Given the description of an element on the screen output the (x, y) to click on. 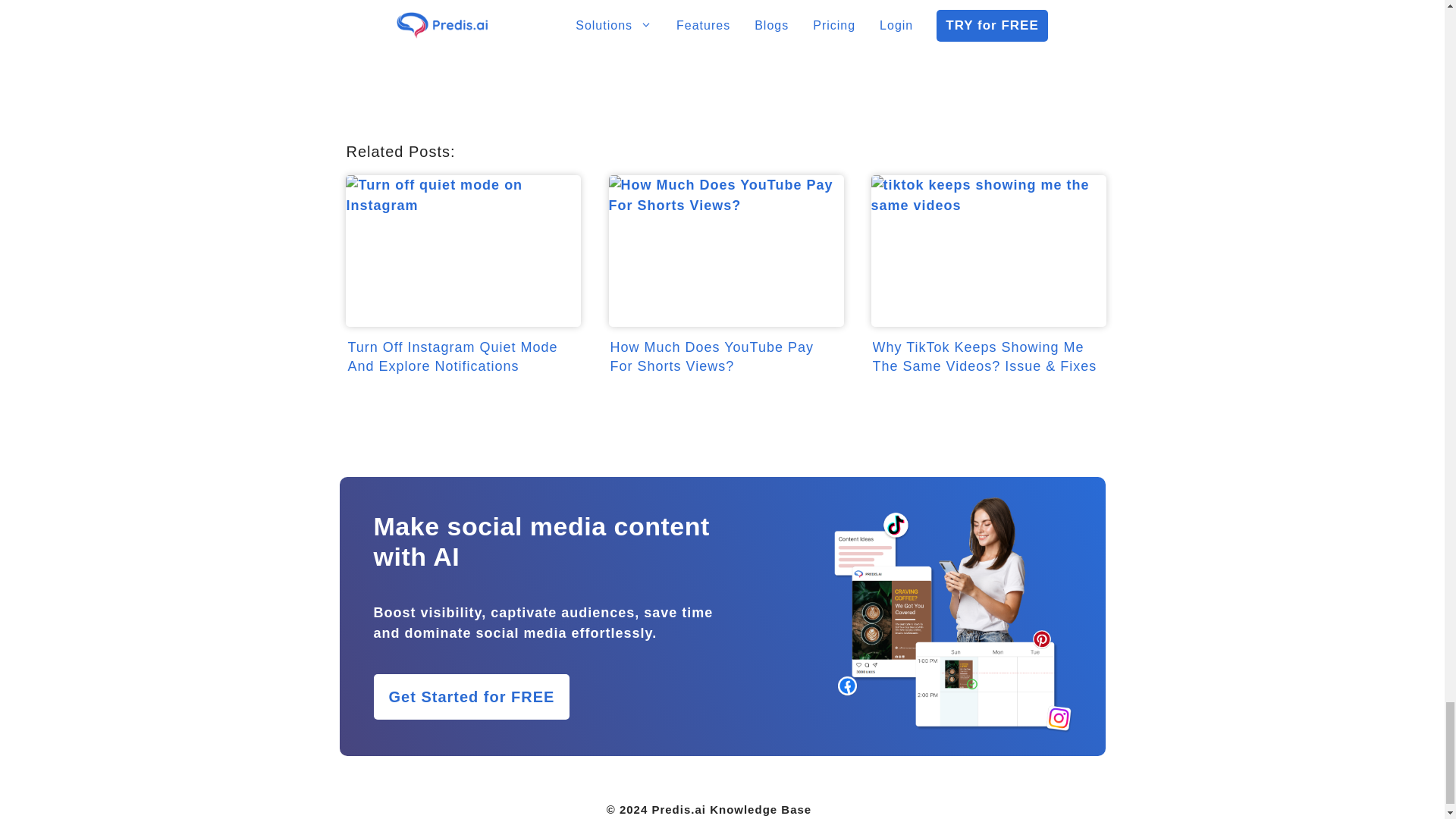
Turn Off Instagram Quiet Mode And Explore Notifications (459, 303)
